Given the description of an element on the screen output the (x, y) to click on. 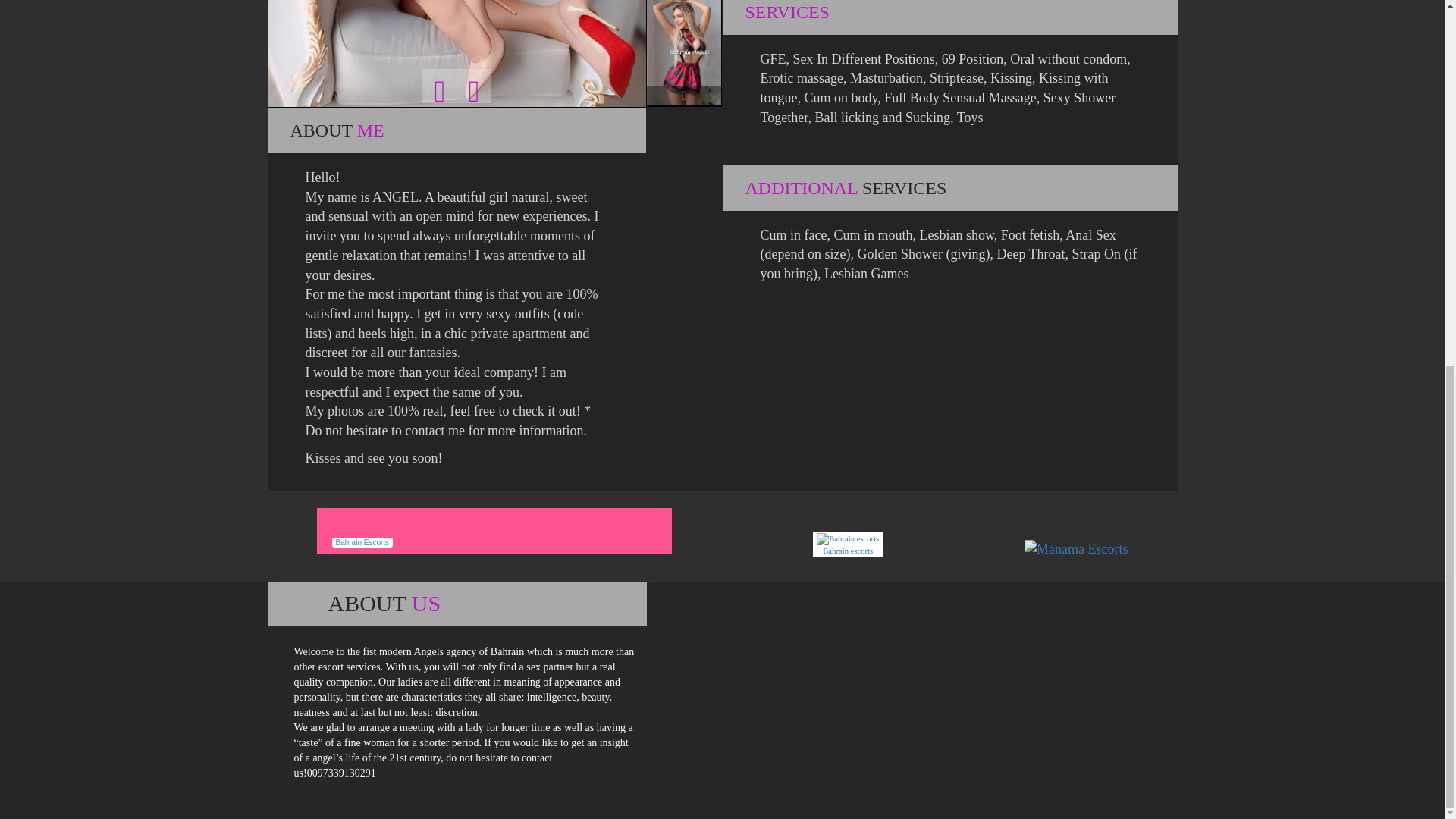
Bahrain Escorts (494, 530)
Bahrain escorts (847, 544)
Bahrain Escorts (494, 530)
Manama Escorts (1075, 548)
escort berlin (691, 590)
